Given the description of an element on the screen output the (x, y) to click on. 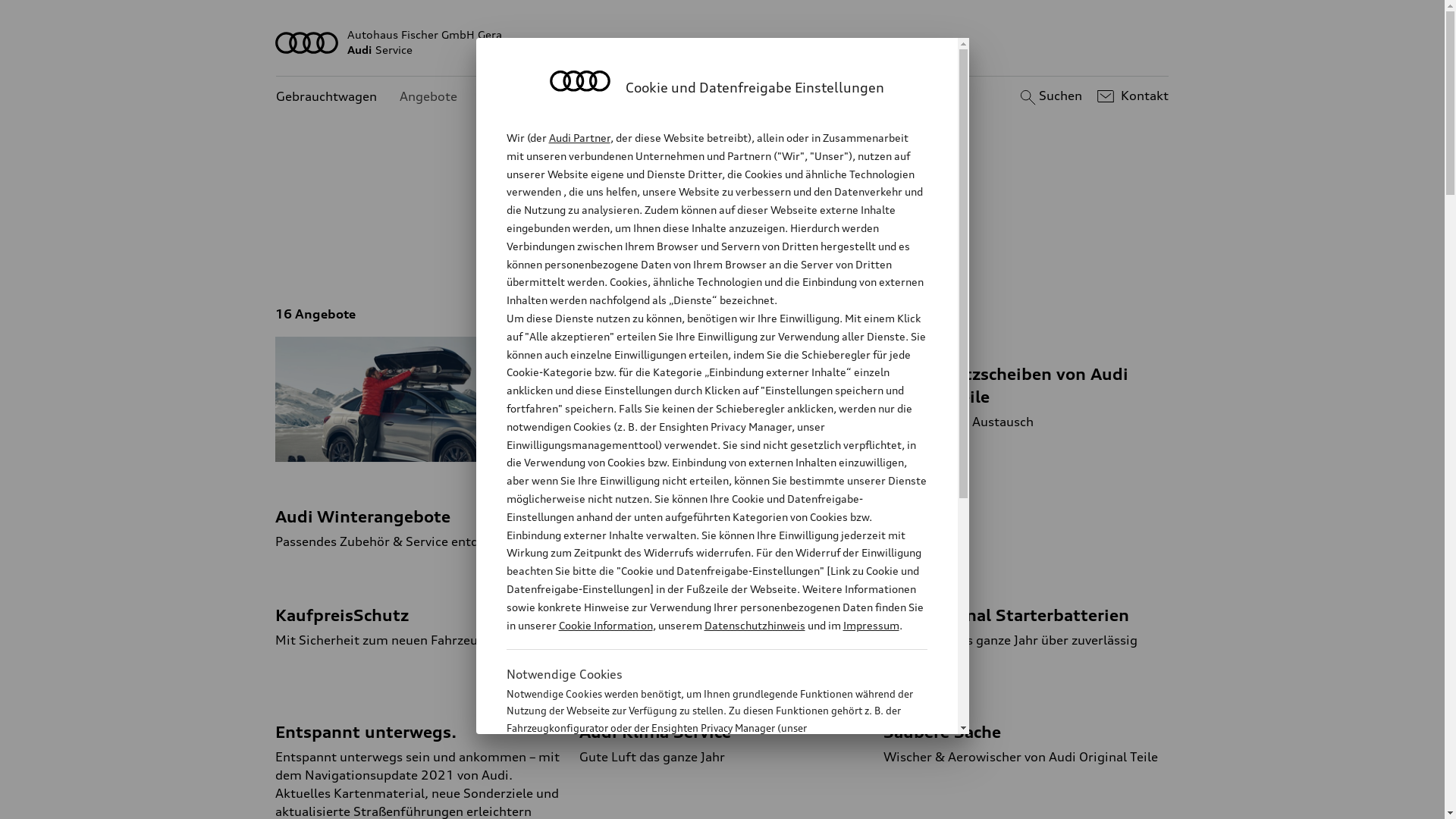
Kontakt Element type: text (1130, 96)
Cookie Information Element type: text (605, 624)
Angebote Element type: text (428, 96)
Audi Partner Element type: text (579, 137)
Cookie Information Element type: text (700, 802)
Saubere Sache
Wischer & Aerowischer von Audi Original Teile Element type: text (1026, 729)
Datenschutzhinweis Element type: text (753, 624)
Audi Original Bremsen
Die Kraft liegt im Detail Element type: text (722, 613)
Audi Klima Service
Gute Luft das ganze Jahr Element type: text (722, 729)
Gebrauchtwagen Element type: text (326, 96)
Alle Angebote Element type: text (604, 250)
Kundenservice Element type: text (523, 96)
Impressum Element type: text (871, 624)
Suchen Element type: text (1049, 96)
Service Element type: text (860, 250)
Fahrzeuge Element type: text (703, 250)
KaufpreisSchutz
Mit Sicherheit zum neuen Fahrzeug Element type: text (418, 613)
Autohaus Fischer GmbH Gera
AudiService Element type: text (722, 42)
